Given the description of an element on the screen output the (x, y) to click on. 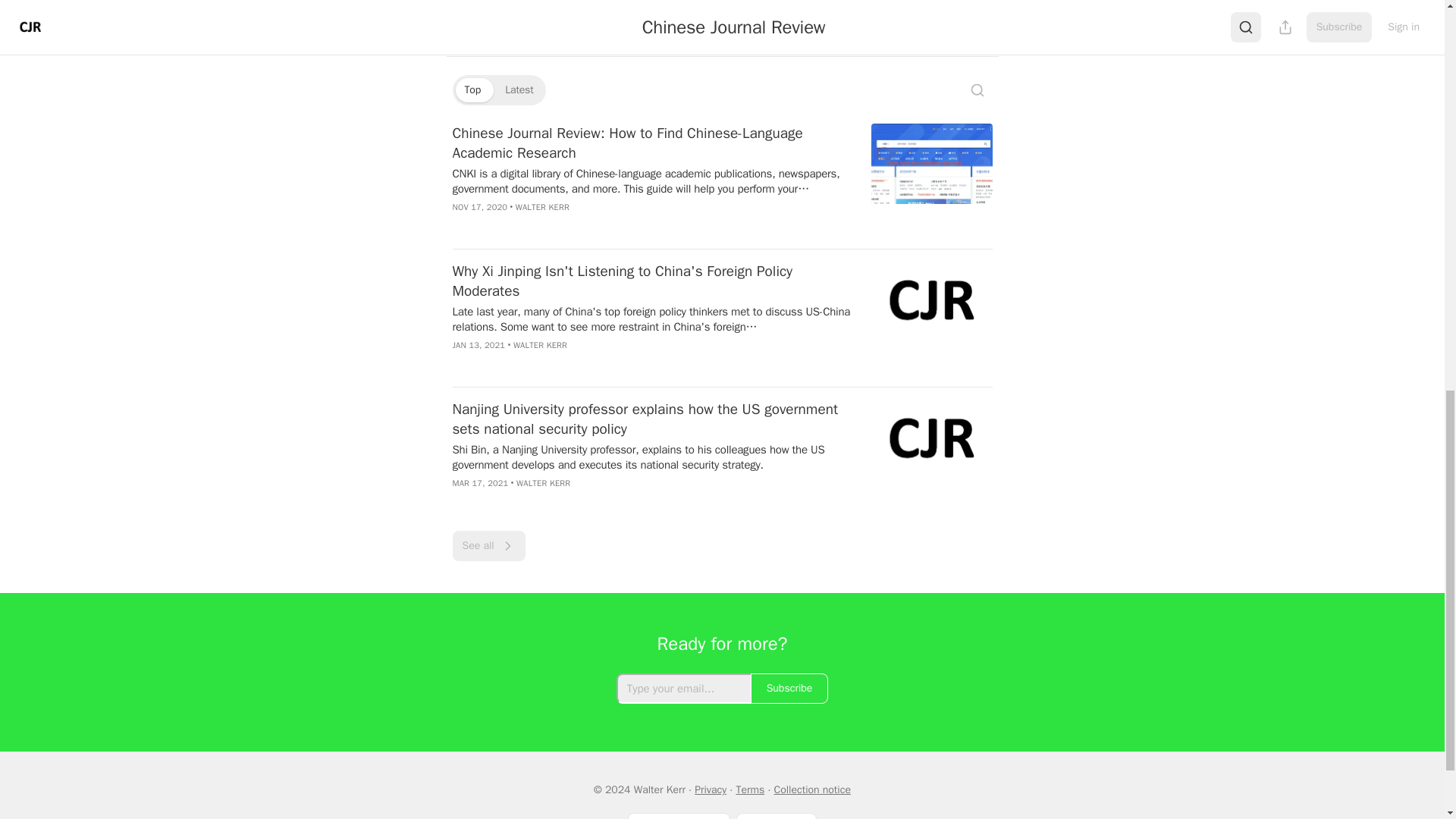
Privacy (710, 789)
Get the app (776, 816)
Collection notice (811, 789)
See all (487, 545)
Subscribe (789, 688)
Terms (749, 789)
Start Writing (678, 816)
WALTER KERR (542, 206)
Latest (518, 89)
Top (471, 89)
WALTER KERR (540, 344)
WALTER KERR (543, 482)
